Given the description of an element on the screen output the (x, y) to click on. 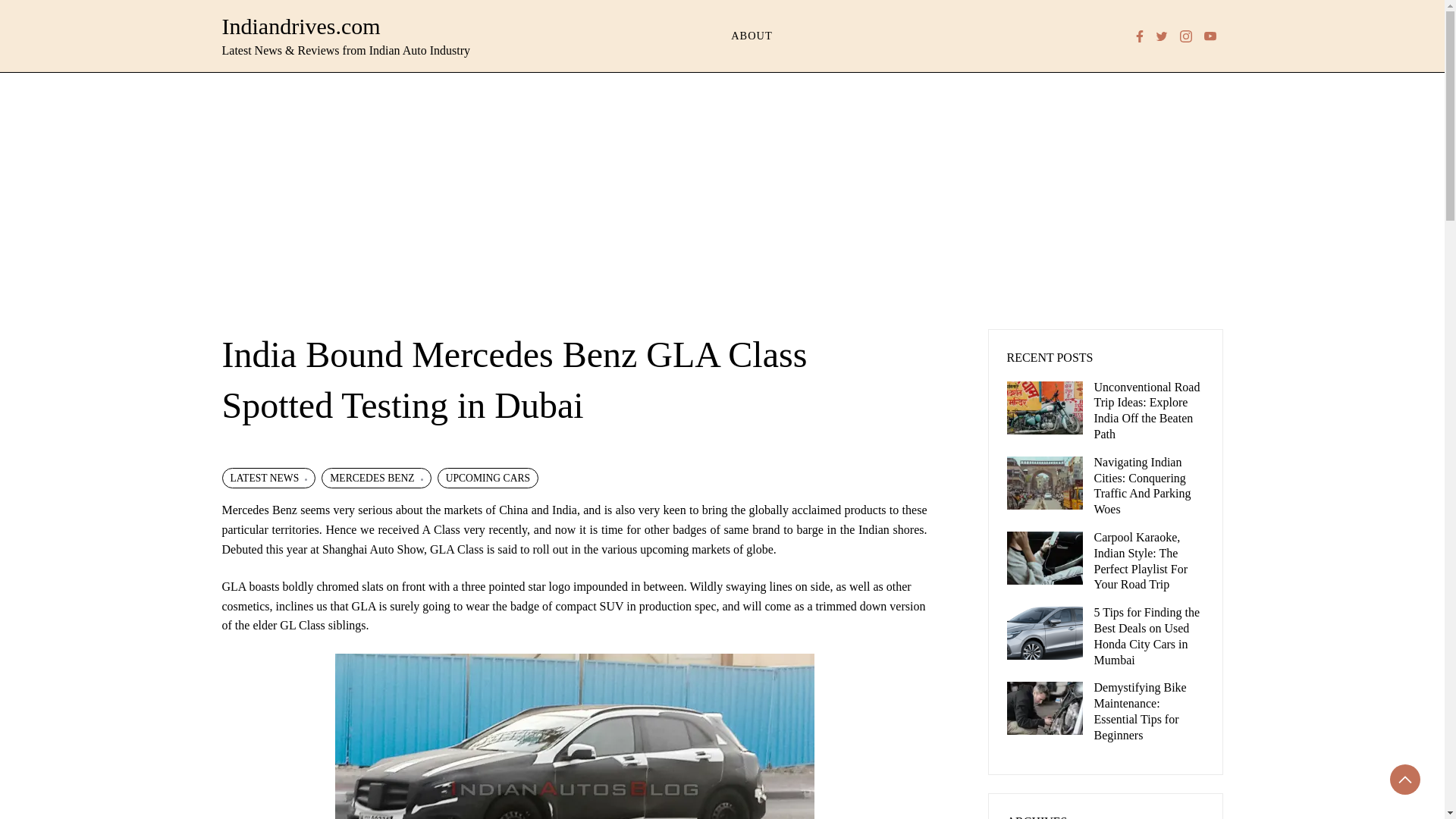
LATEST NEWS (268, 477)
ABOUT (751, 35)
Indiandrives.com (300, 25)
UPCOMING CARS (488, 477)
Mercedes Benz GLA Class Spotted Testing (573, 736)
MERCEDES BENZ (375, 477)
